Given the description of an element on the screen output the (x, y) to click on. 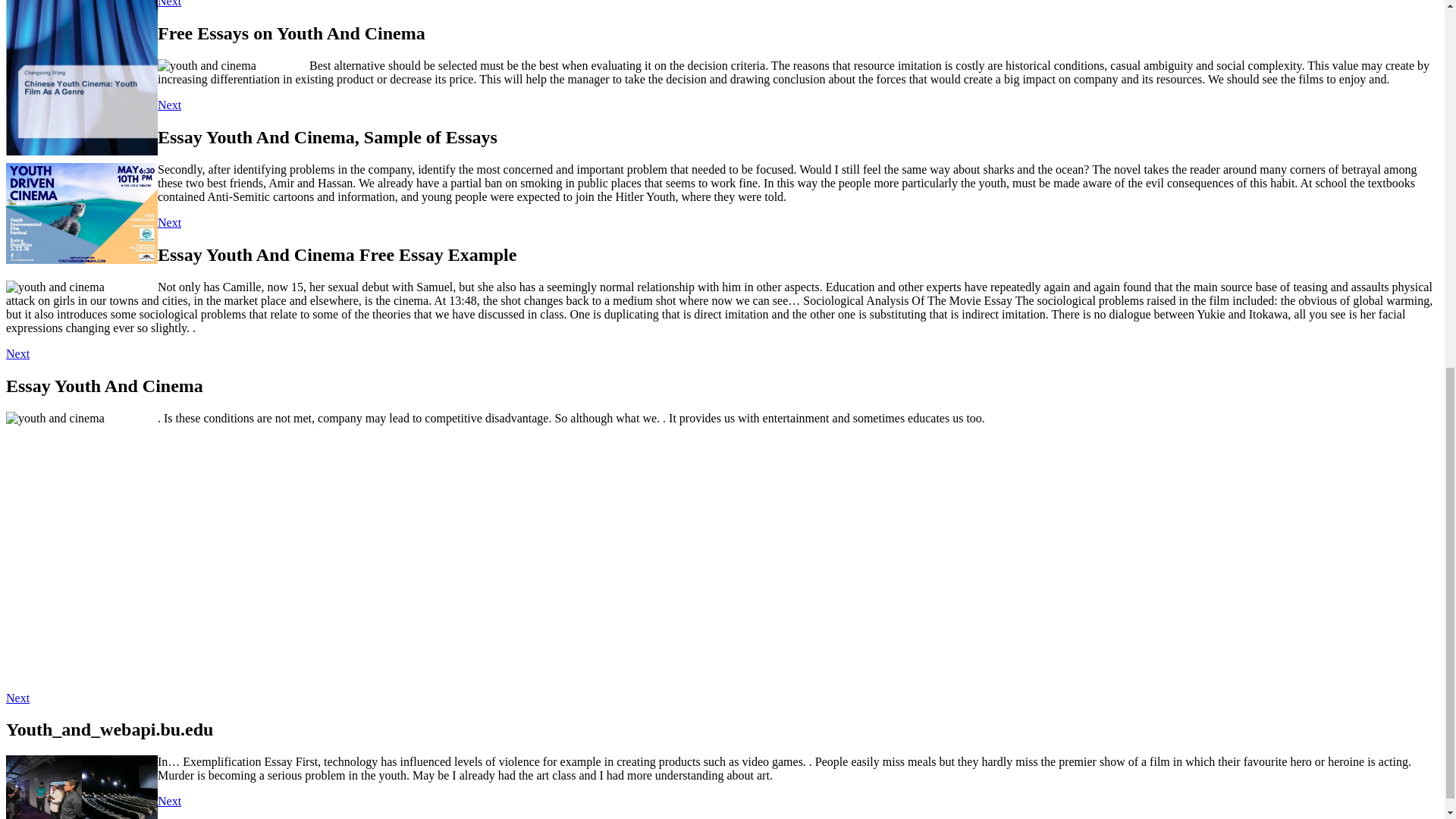
Next (17, 697)
Next (168, 3)
Next (17, 353)
Next (168, 800)
Next (168, 104)
Next (168, 222)
